Given the description of an element on the screen output the (x, y) to click on. 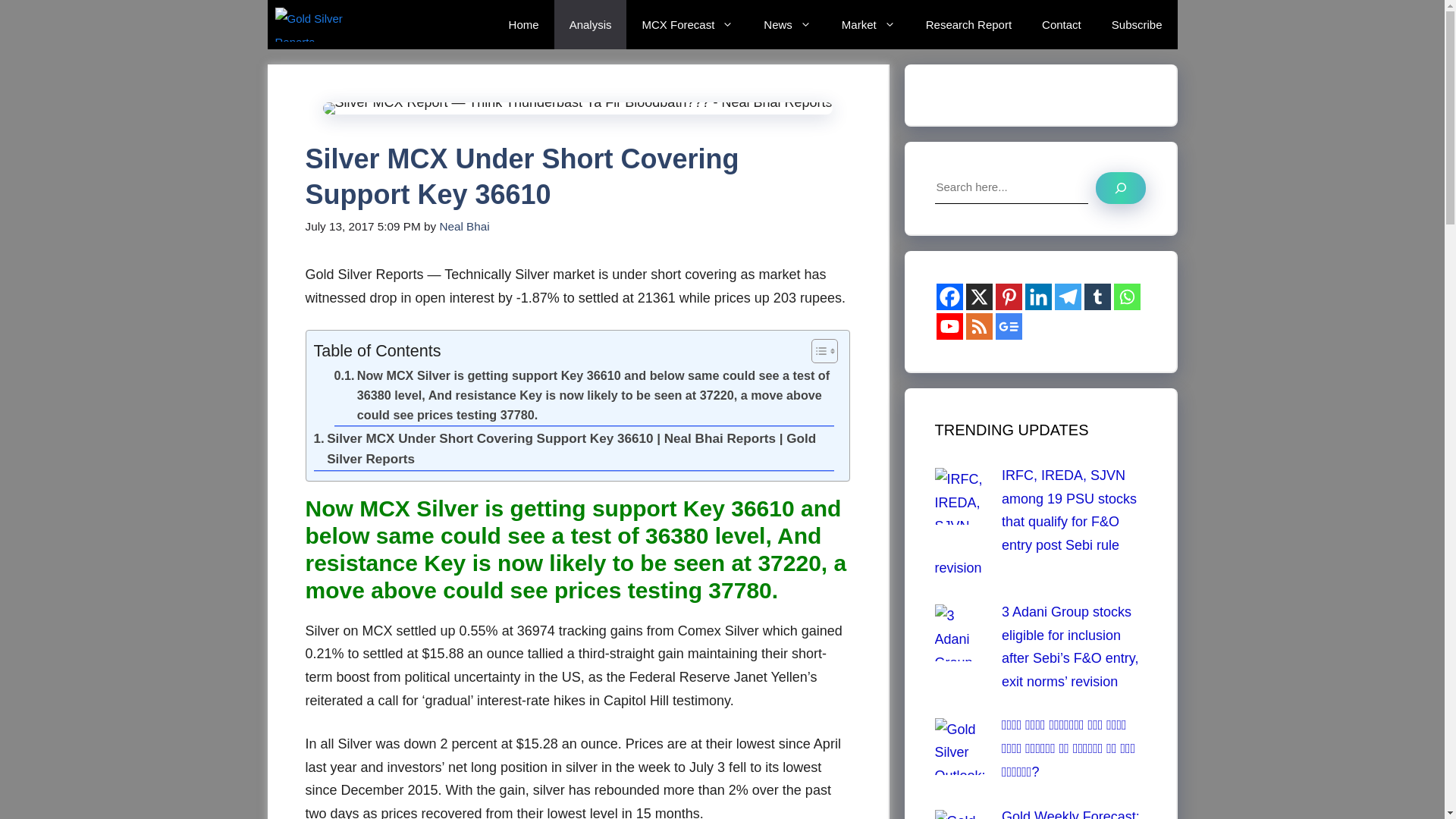
Market (869, 24)
Gold Silver Reports (329, 24)
Home (523, 24)
Analysis (590, 24)
MCX Forecast (687, 24)
Research Report (968, 24)
News (787, 24)
Contact (1061, 24)
Analysis (590, 24)
MCX Forecast (687, 24)
